Given the description of an element on the screen output the (x, y) to click on. 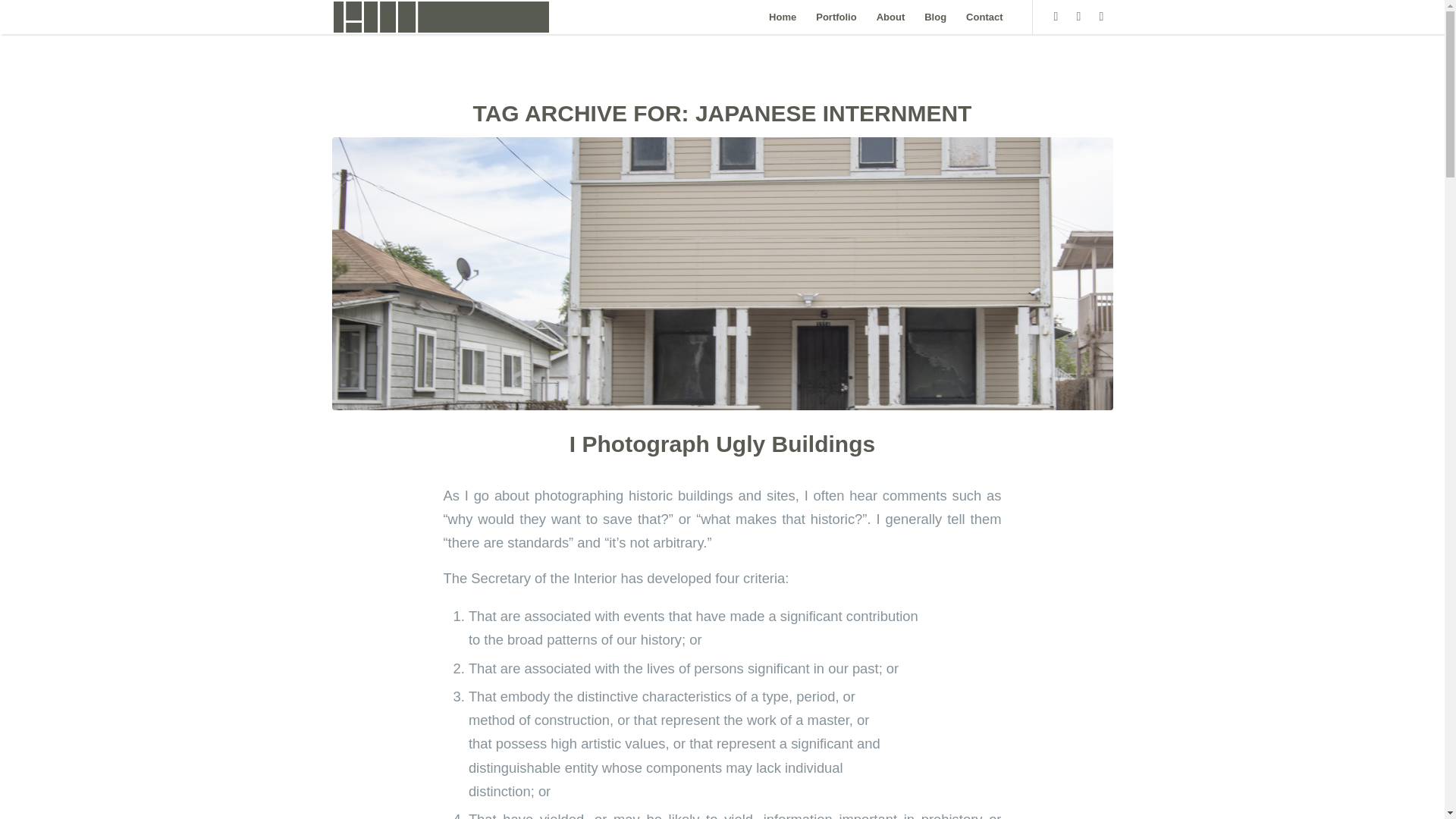
Instagram (1078, 15)
LinkedIn (1056, 15)
Contact (983, 17)
Home (782, 17)
Blog (935, 17)
I Photograph Ugly Buildings (722, 443)
Portfolio (836, 17)
Mail (1101, 15)
About (890, 17)
Permanent Link: I Photograph Ugly Buildings (722, 443)
